Given the description of an element on the screen output the (x, y) to click on. 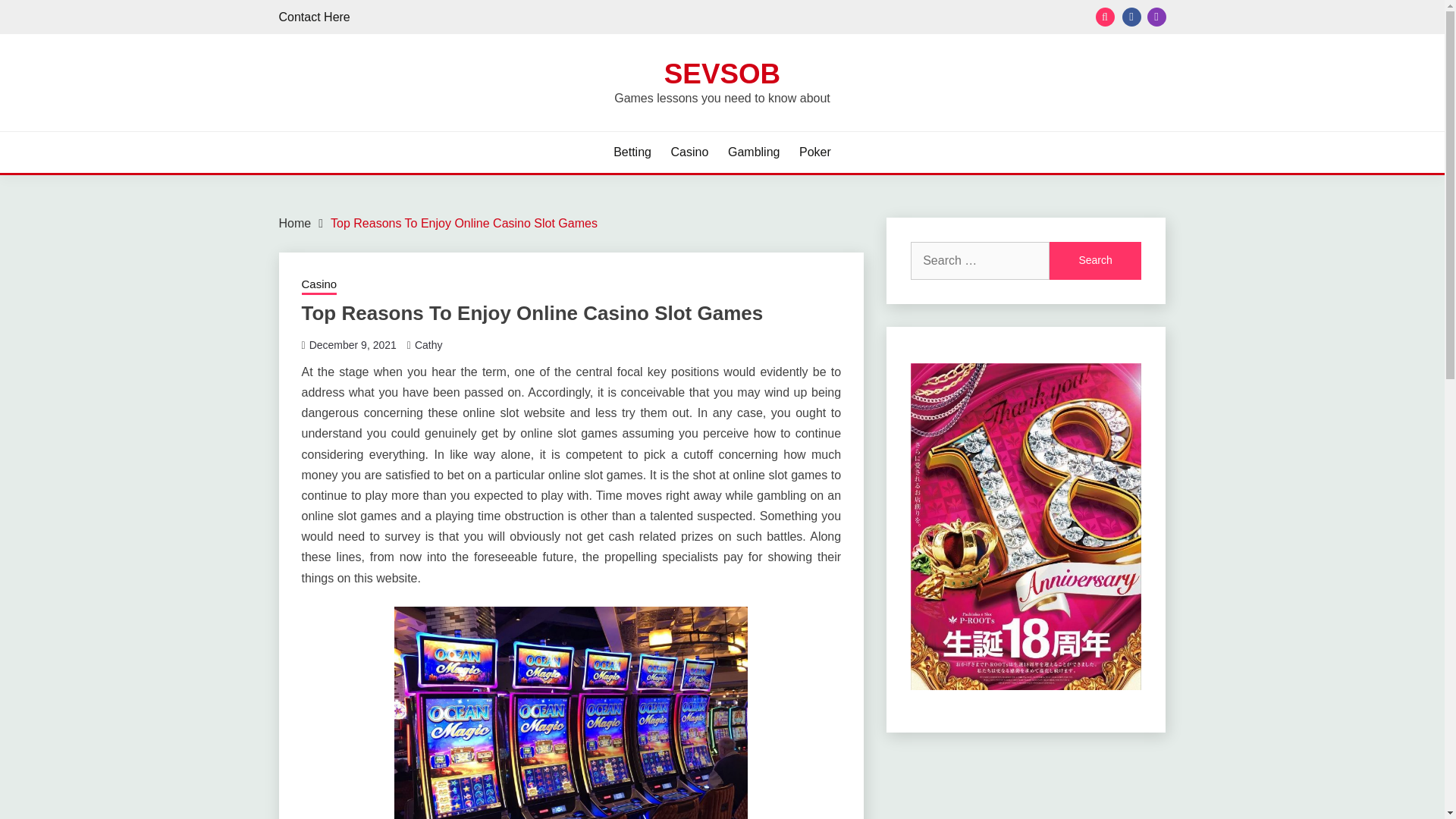
Contact Here (314, 16)
Poker (815, 152)
Casino (690, 152)
Top Reasons To Enjoy Online Casino Slot Games (463, 223)
Search (1095, 260)
SEVSOB (721, 73)
Home (295, 223)
Cathy (428, 345)
December 9, 2021 (352, 345)
Gambling (753, 152)
